Given the description of an element on the screen output the (x, y) to click on. 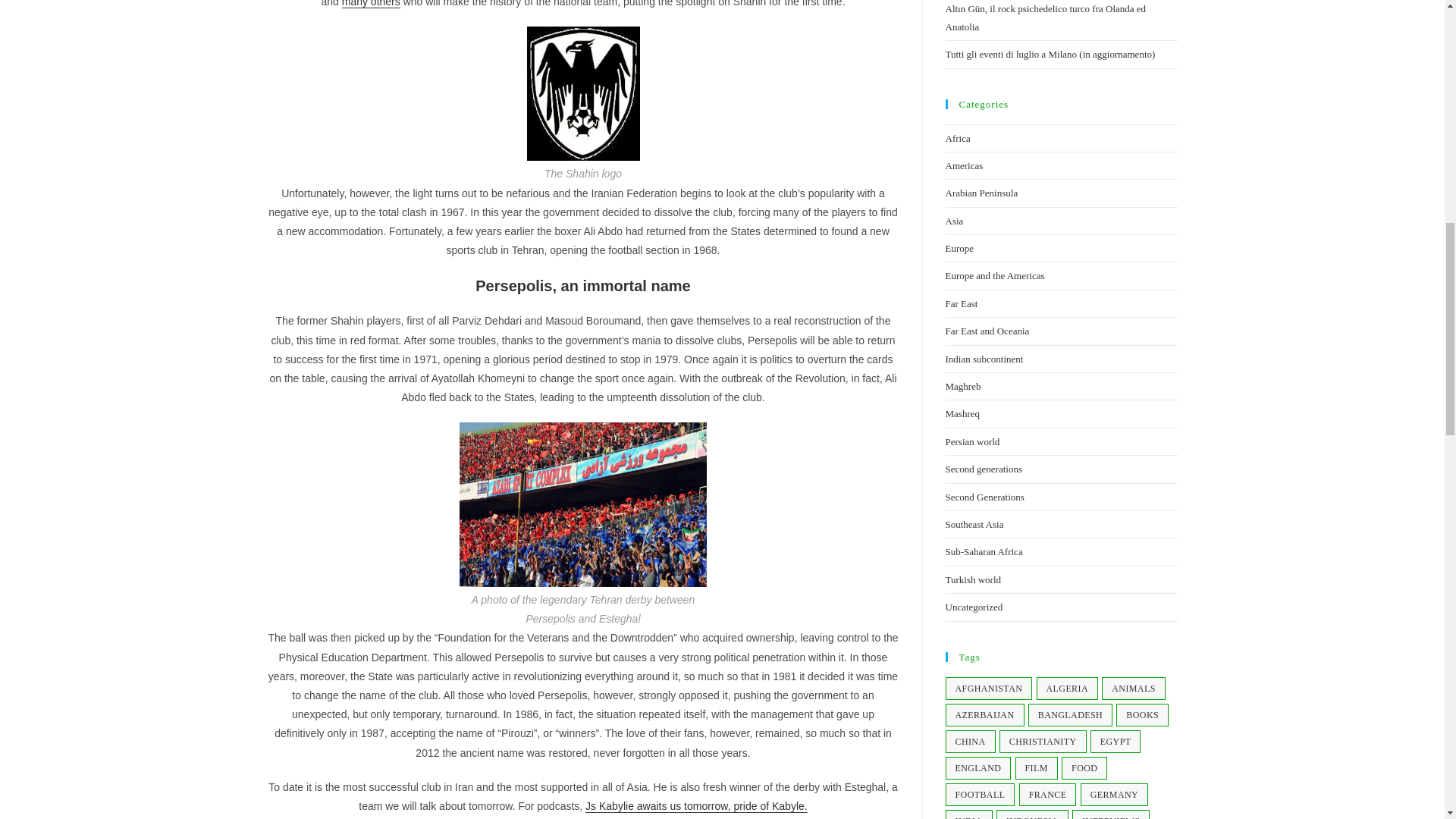
many others (371, 3)
Js Kabylie awaits us tomorrow, pride of Kabyle. (696, 806)
